Given the description of an element on the screen output the (x, y) to click on. 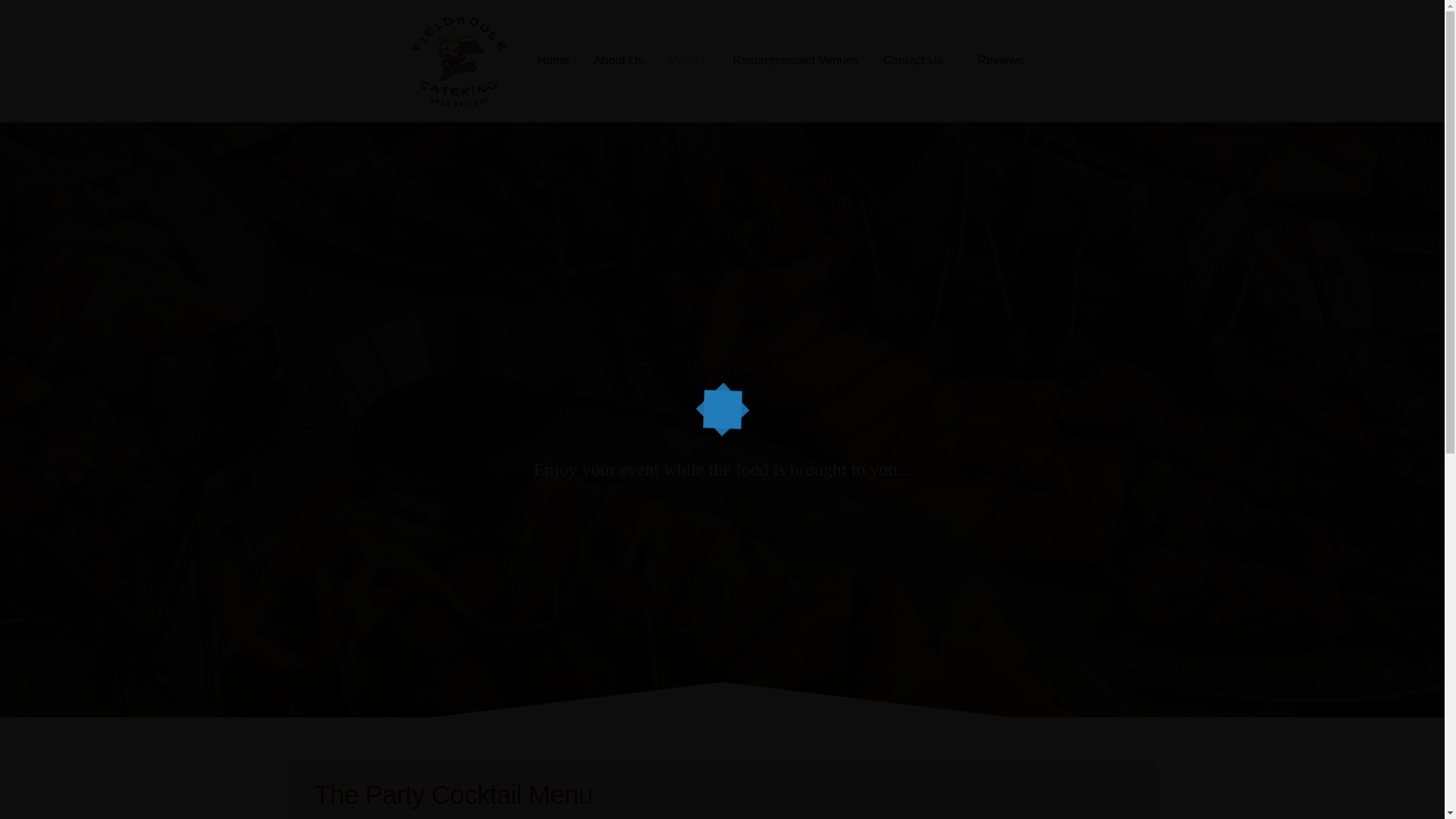
Menu (688, 60)
Recommended Venues (795, 60)
Home (552, 60)
About Us (618, 60)
Reviews (1000, 60)
Contact Us (918, 60)
